Given the description of an element on the screen output the (x, y) to click on. 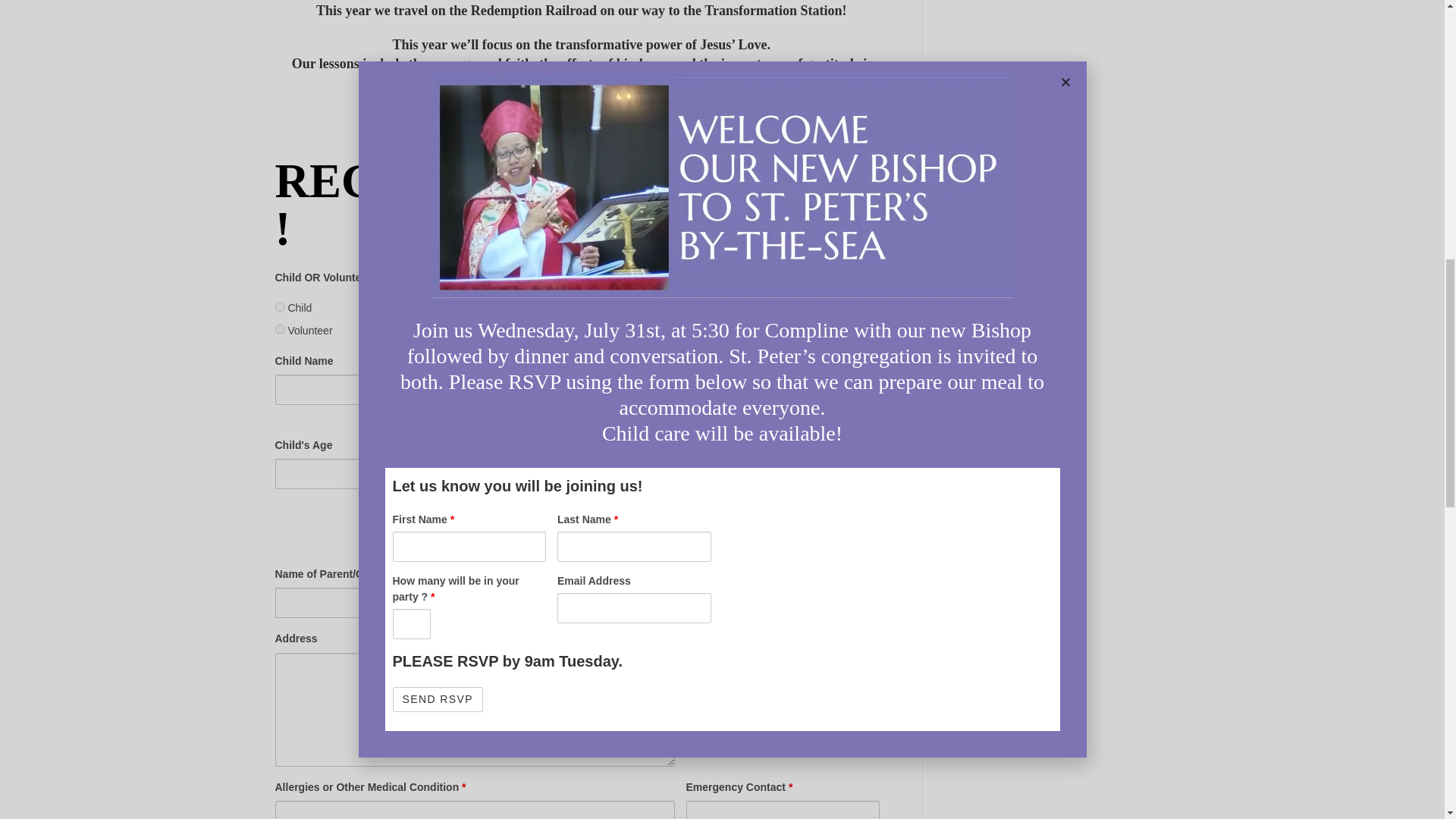
Female (639, 389)
Volunteer (279, 329)
Child (279, 307)
Male (639, 413)
